Given the description of an element on the screen output the (x, y) to click on. 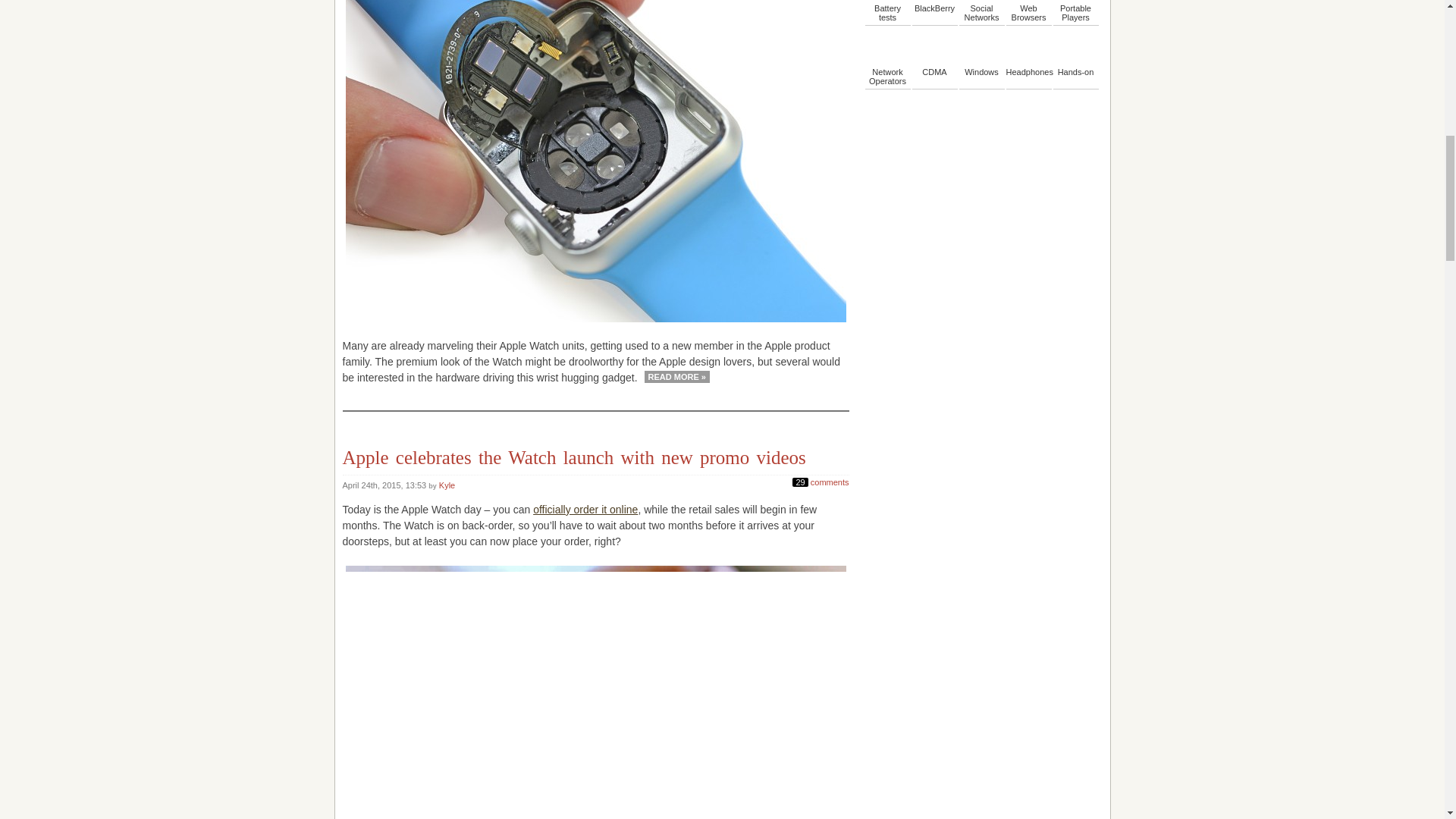
Apple celebrates the Watch launch with new promo videos (574, 457)
officially order it online (584, 509)
24 April 2015 13:53:50 PM (385, 484)
Kyle (446, 484)
29 comments (820, 480)
